Given the description of an element on the screen output the (x, y) to click on. 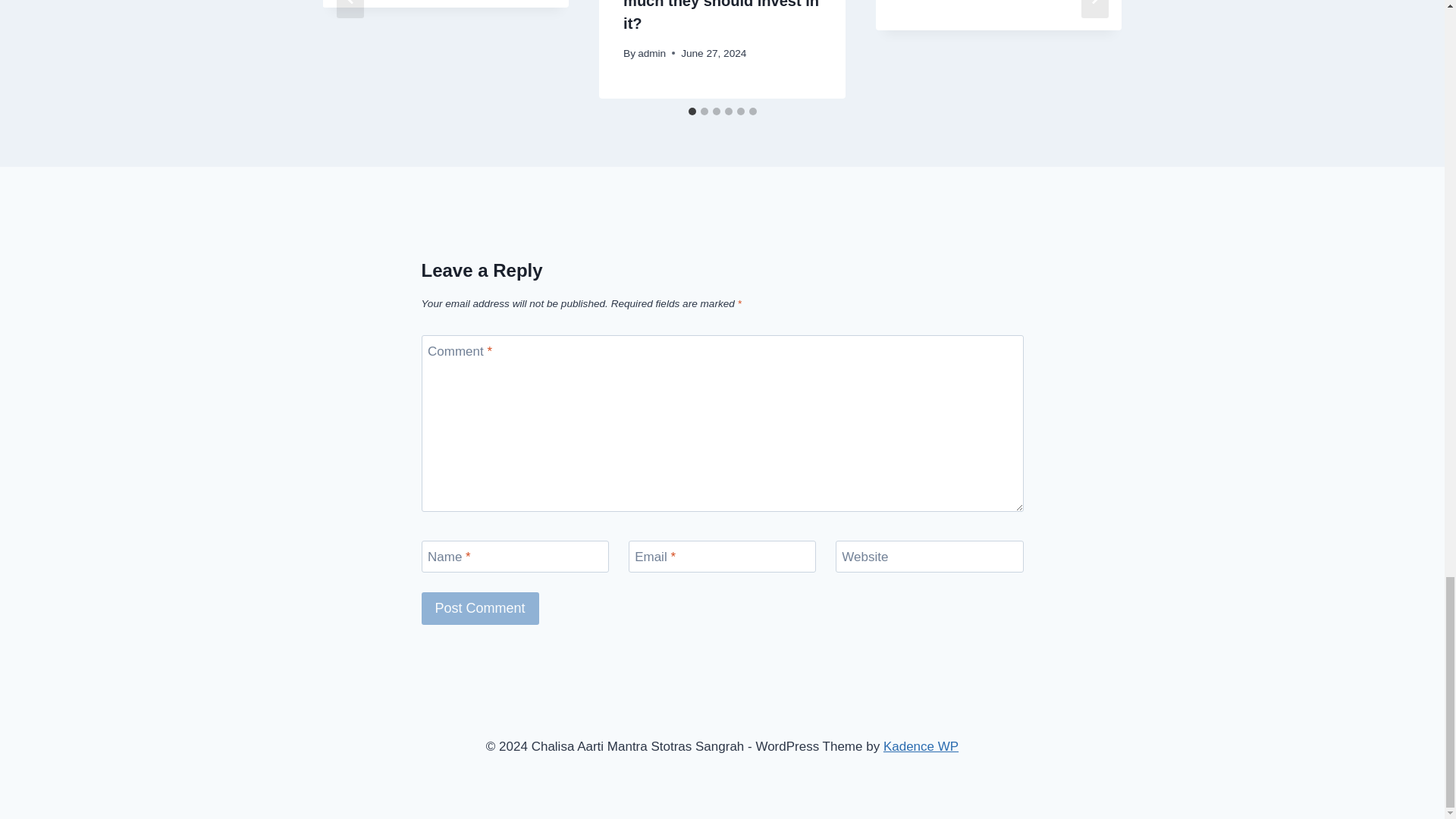
Post Comment (480, 608)
